Given the description of an element on the screen output the (x, y) to click on. 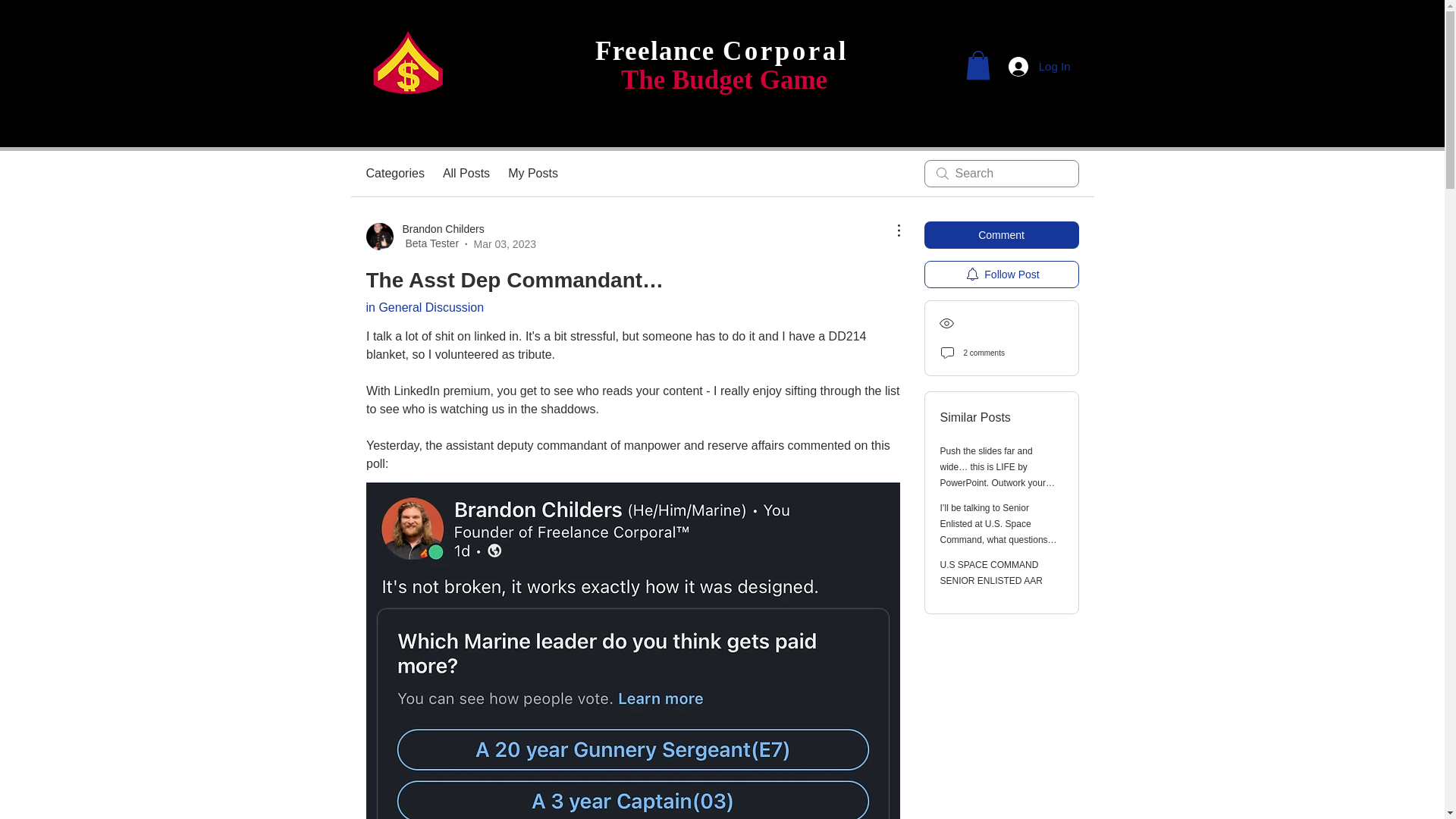
All Posts (465, 173)
Follow Post (1000, 274)
U.S SPACE COMMAND SENIOR ENLISTED AAR (991, 572)
My Posts (532, 173)
Comment (1000, 234)
Log In (1039, 65)
in General Discussion (424, 307)
Categories (394, 173)
